Given the description of an element on the screen output the (x, y) to click on. 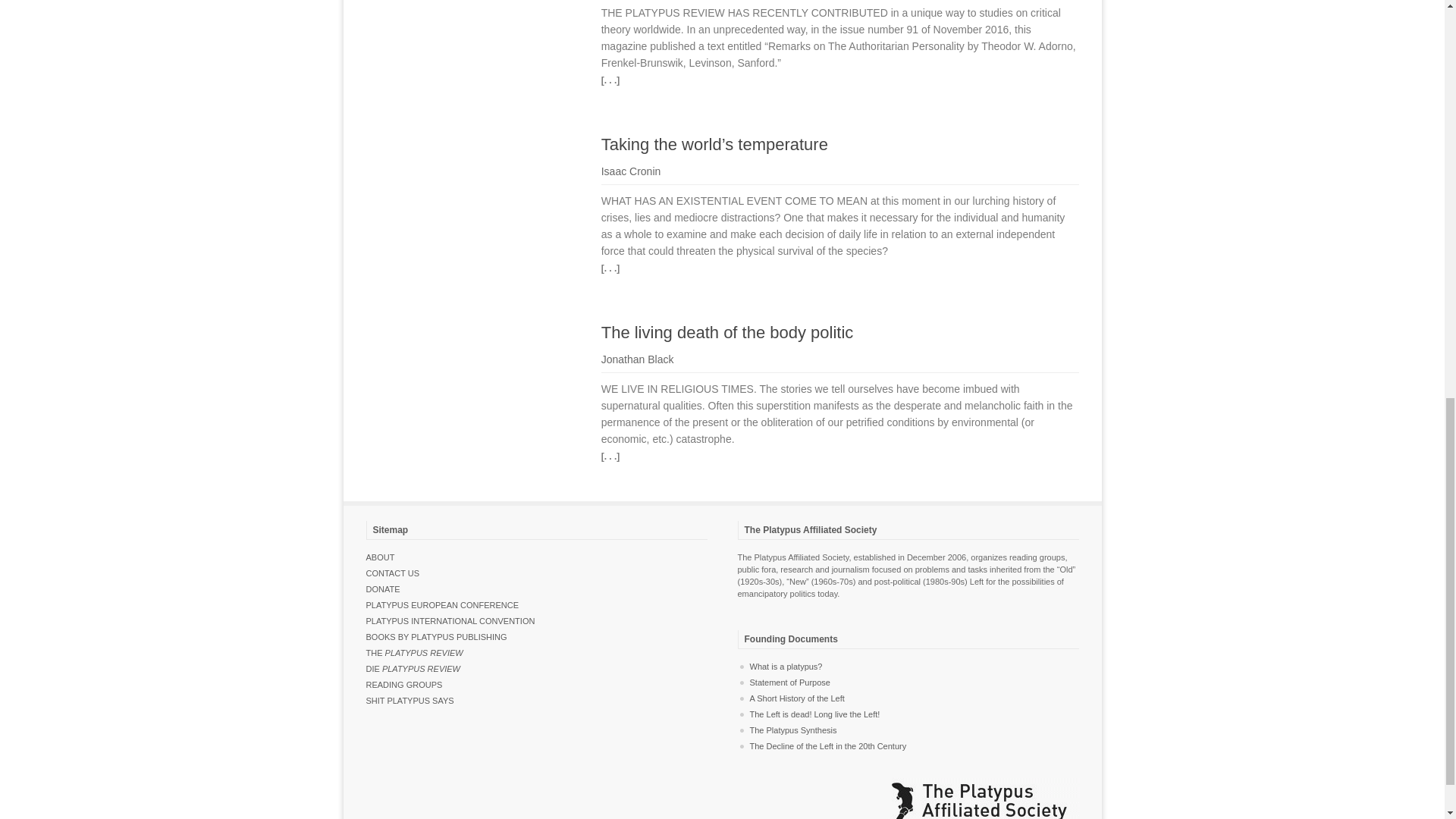
CONTACT US (392, 573)
The living death of the body politic (727, 332)
DONATE (381, 588)
ABOUT (379, 556)
PLATYPUS EUROPEAN CONFERENCE (441, 604)
Jonathan Black (637, 358)
Isaac Cronin (631, 171)
PLATYPUS INTERNATIONAL CONVENTION (449, 620)
